Given the description of an element on the screen output the (x, y) to click on. 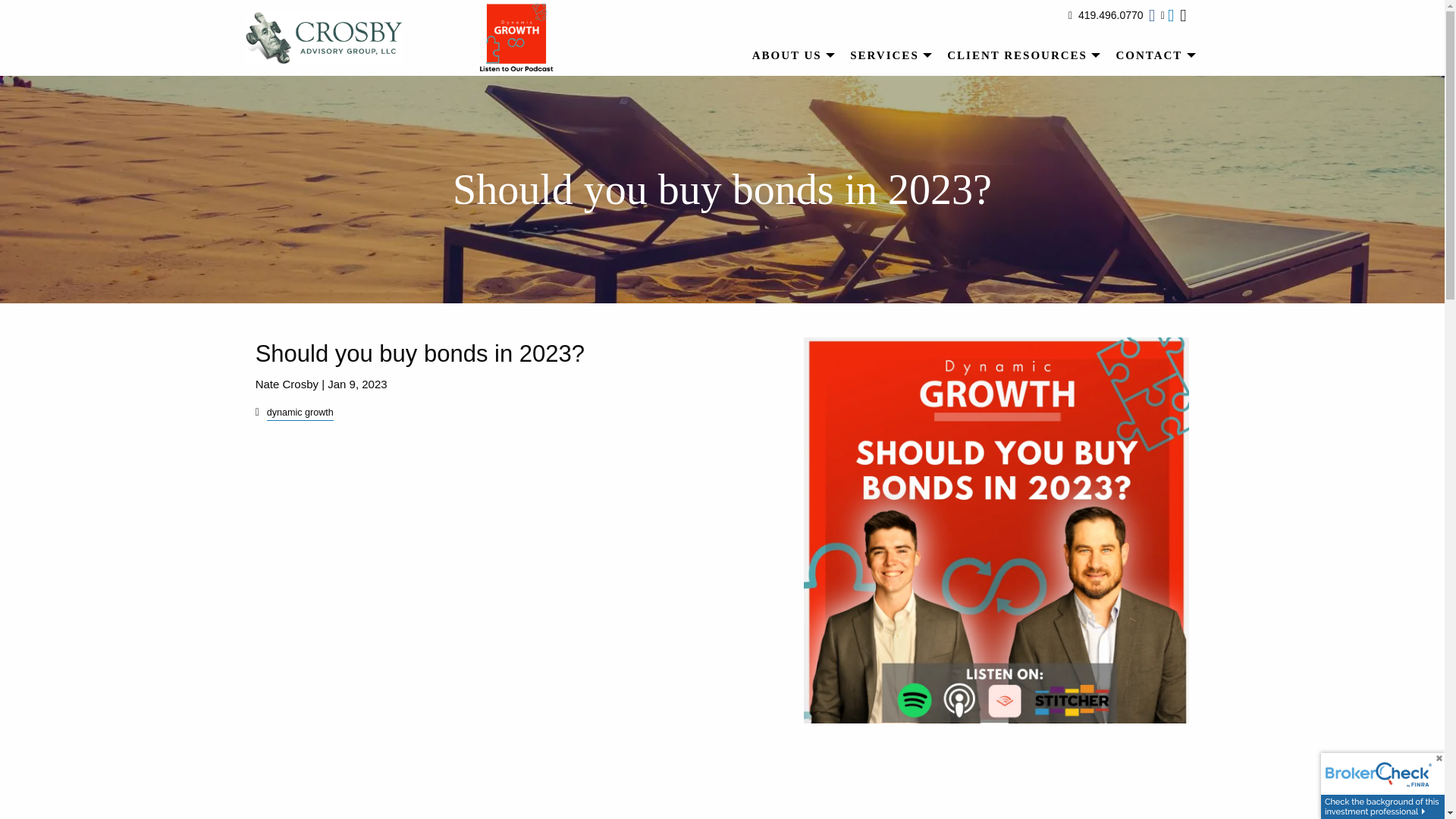
CLIENT RESOURCES (1019, 54)
About Us (790, 54)
CONTACT (1150, 54)
dynamic growth (299, 412)
419.496.0770 (1110, 15)
SERVICES (887, 54)
ABOUT US (790, 54)
